Given the description of an element on the screen output the (x, y) to click on. 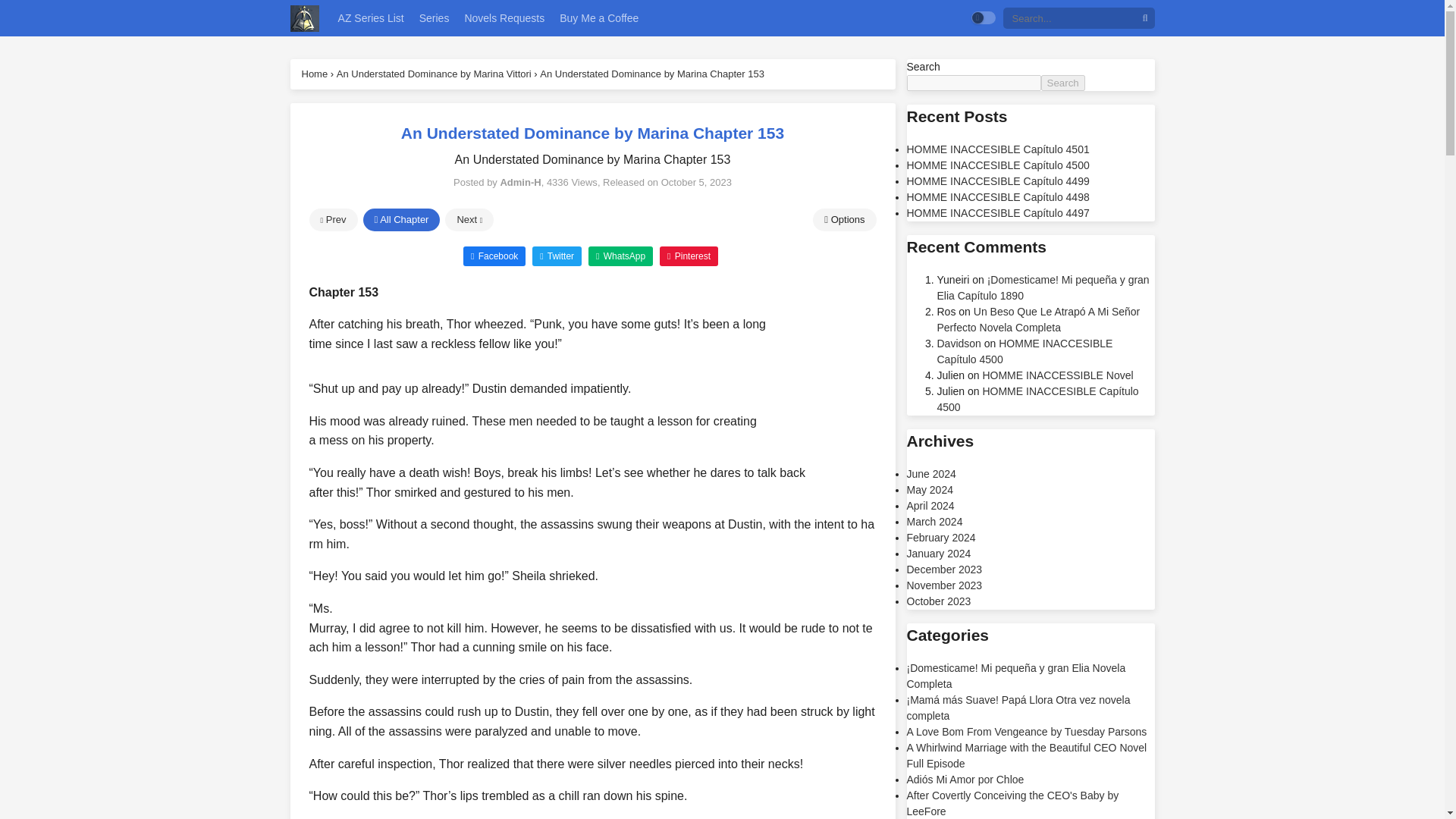
Pinterest (688, 255)
All Chapter (400, 219)
Facebook (494, 255)
Davidson (959, 343)
Buy Me a Coffee (599, 18)
An Understated Dominance by Marina Chapter 153 (652, 73)
Home (315, 73)
Series (433, 18)
An Understated Dominance by Marina Vittori (433, 73)
AZ Series List (370, 18)
Novels Requests (504, 18)
WhatsApp (620, 255)
Prev (333, 219)
Search (1062, 82)
